Given the description of an element on the screen output the (x, y) to click on. 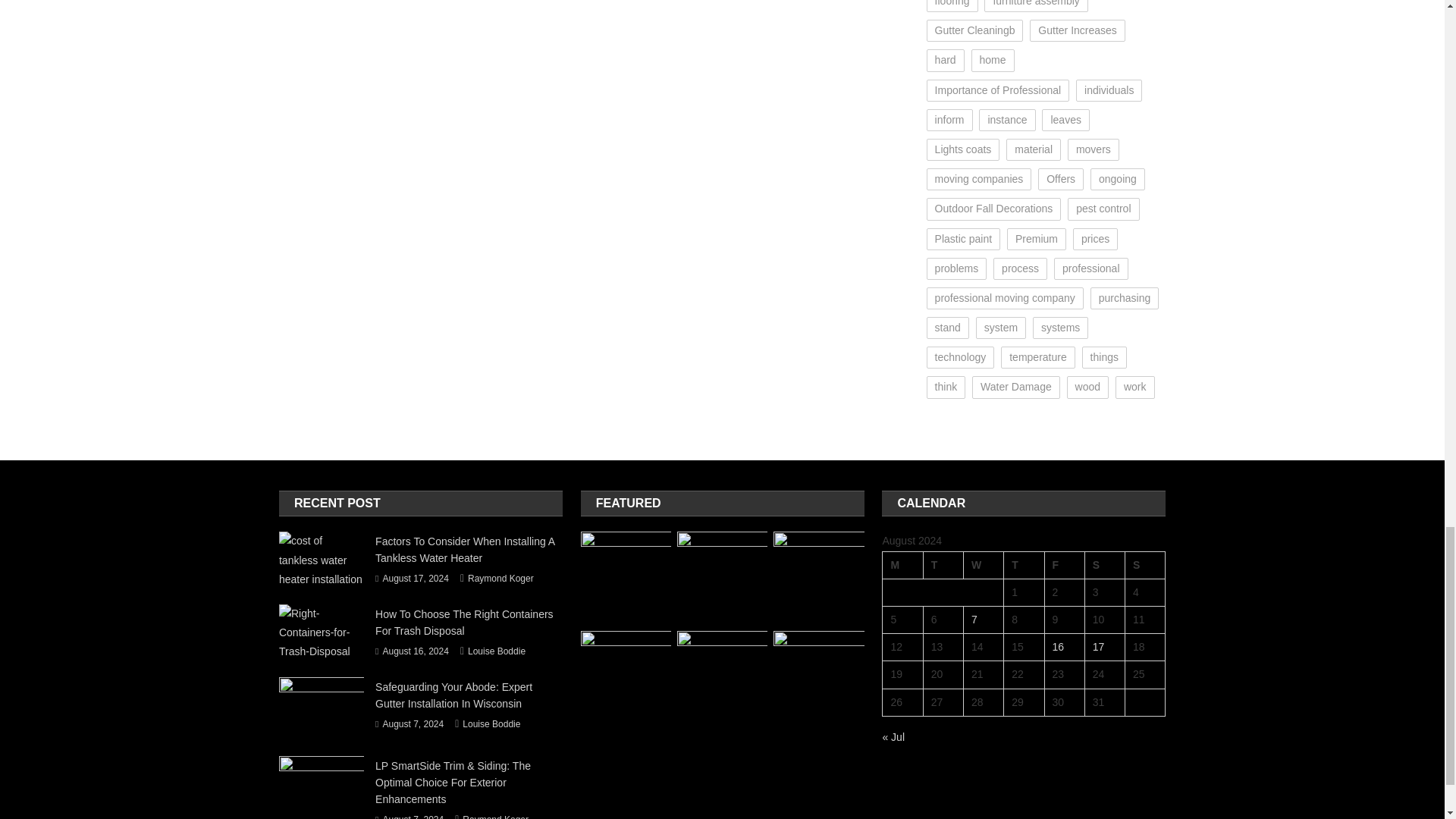
Saturday (1104, 564)
Tuesday (942, 564)
Thursday (1023, 564)
Monday (902, 564)
Wednesday (982, 564)
Sunday (1145, 564)
Friday (1063, 564)
